Given the description of an element on the screen output the (x, y) to click on. 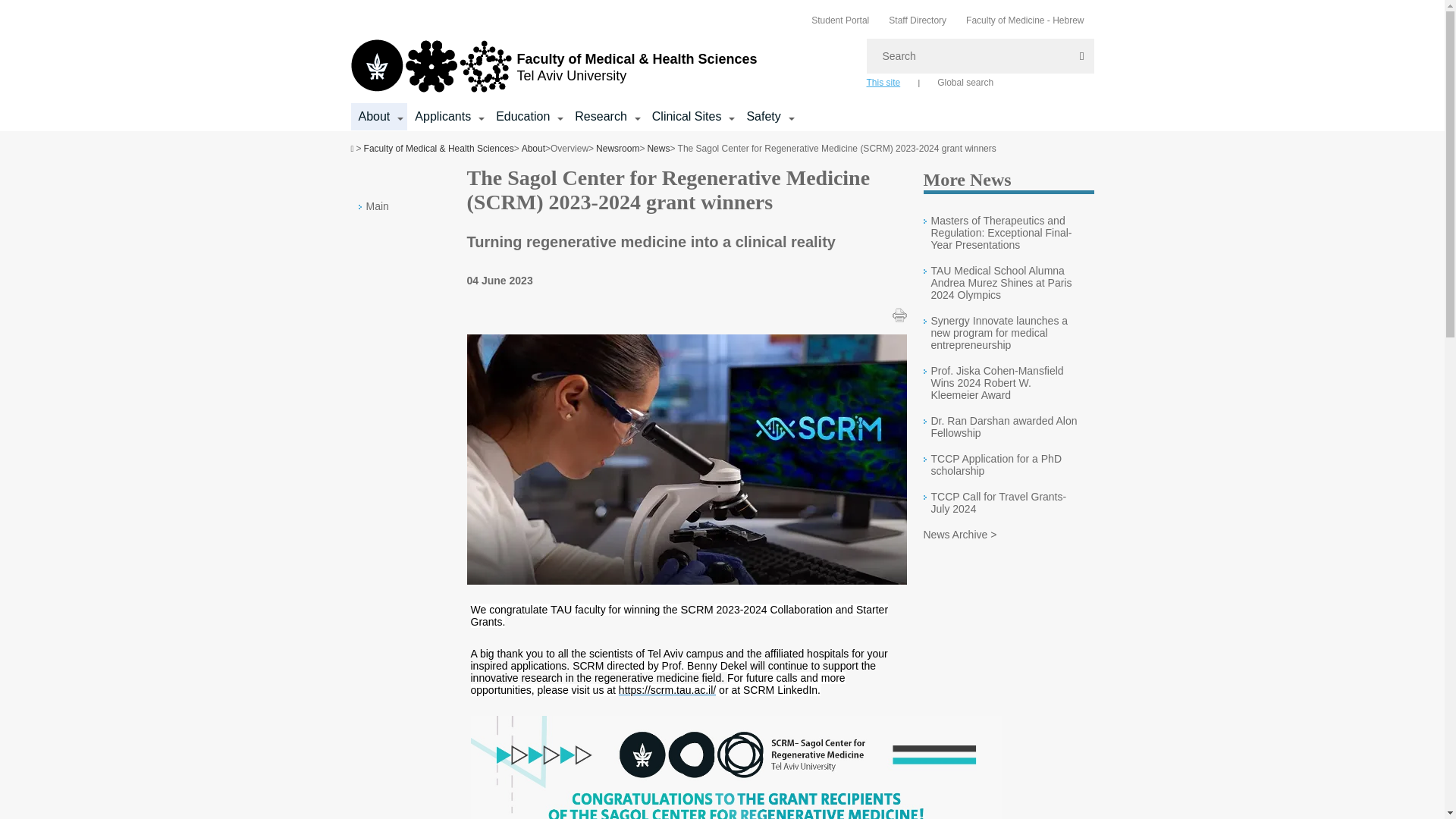
print (898, 314)
Education (523, 116)
Go to homepage (553, 66)
Applicants (442, 116)
Staff Directory (917, 20)
About (374, 116)
Student Portal (839, 20)
Faculty of Medicine - Hebrew (1024, 20)
